Given the description of an element on the screen output the (x, y) to click on. 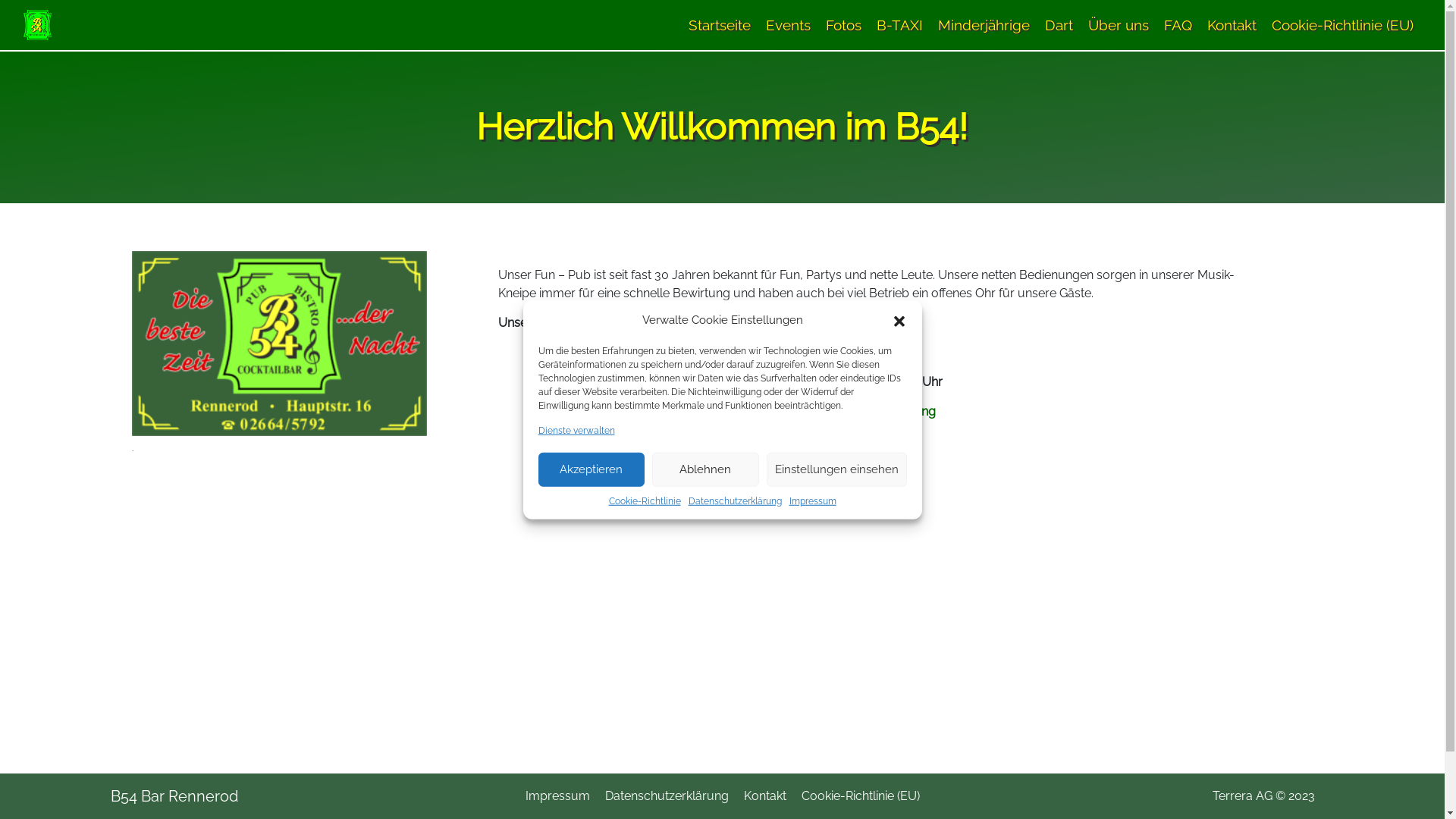
Akzeptieren Element type: text (591, 468)
Cookie-Richtlinie Element type: text (644, 500)
Fotos Element type: text (843, 24)
B-TAXI Element type: text (899, 24)
Startseite Element type: text (719, 24)
Cookie-Richtlinie (EU) Element type: text (1342, 24)
Dart Element type: text (1058, 24)
Ablehnen Element type: text (705, 468)
Kontakt Element type: text (764, 795)
Impressum Element type: text (556, 795)
B54 Bar Rennerod Element type: text (174, 796)
Kontakt & Reservierung Element type: text (869, 411)
FAQ Element type: text (1177, 24)
Impressum Element type: text (811, 500)
Kontakt Element type: text (1231, 24)
Cookie-Richtlinie (EU) Element type: text (859, 795)
Einstellungen einsehen Element type: text (835, 468)
Dienste verwalten Element type: text (576, 429)
Events Element type: text (788, 24)
